Given the description of an element on the screen output the (x, y) to click on. 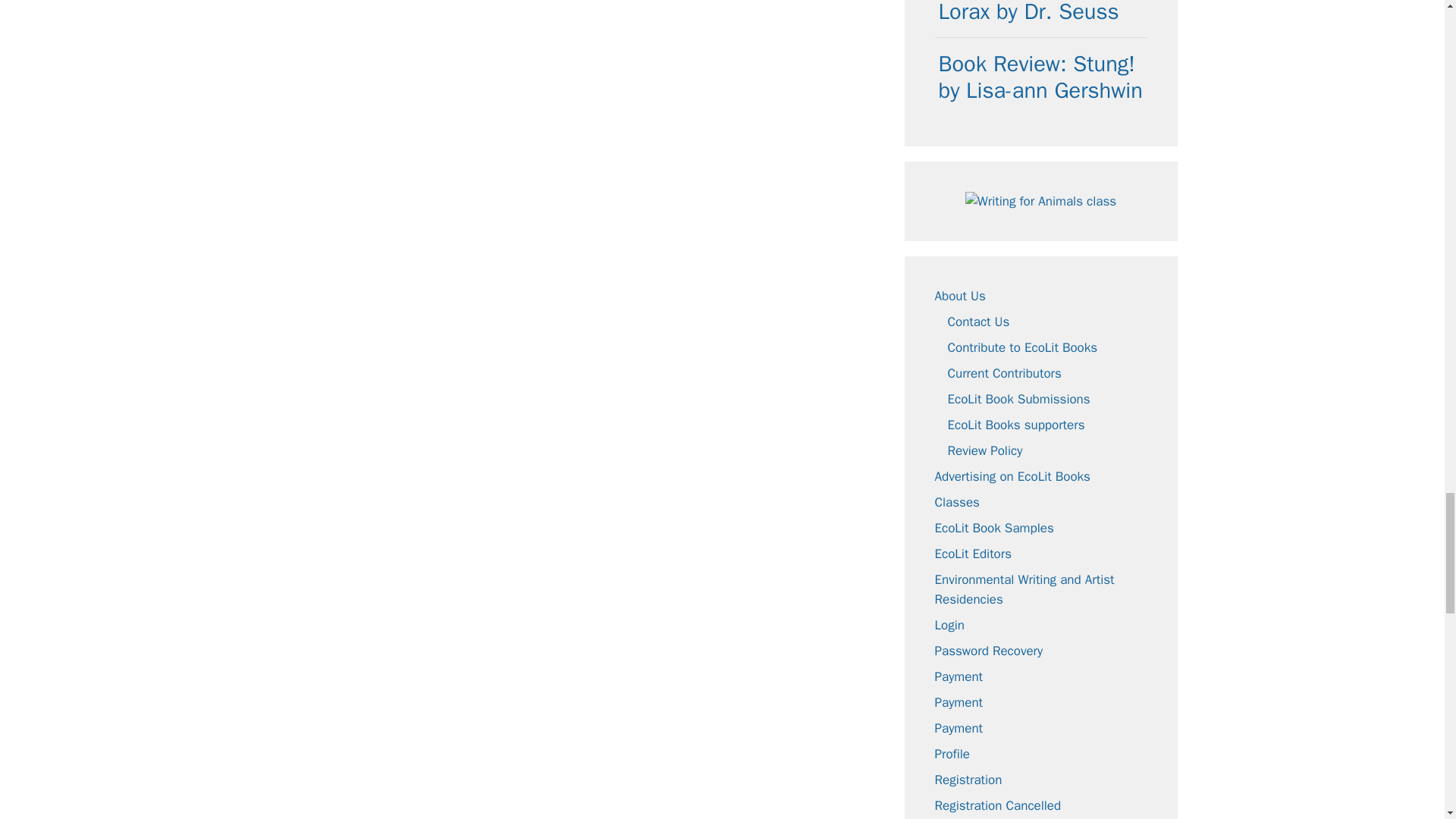
Book Review: The Lorax by Dr. Seuss (1029, 12)
Book Review: Stung! by Lisa-ann Gershwin (1040, 76)
